Given the description of an element on the screen output the (x, y) to click on. 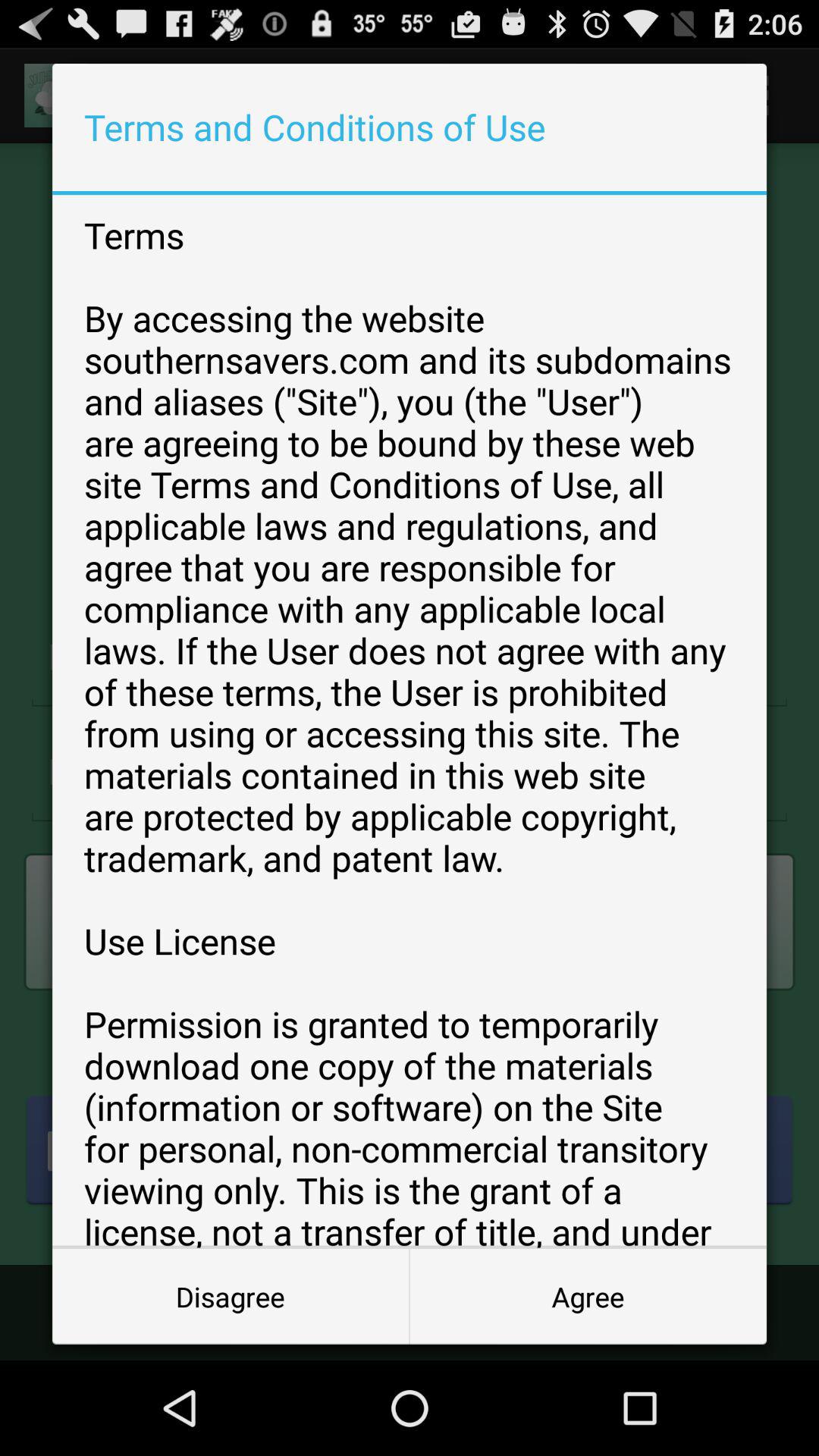
swipe until the disagree (230, 1296)
